Given the description of an element on the screen output the (x, y) to click on. 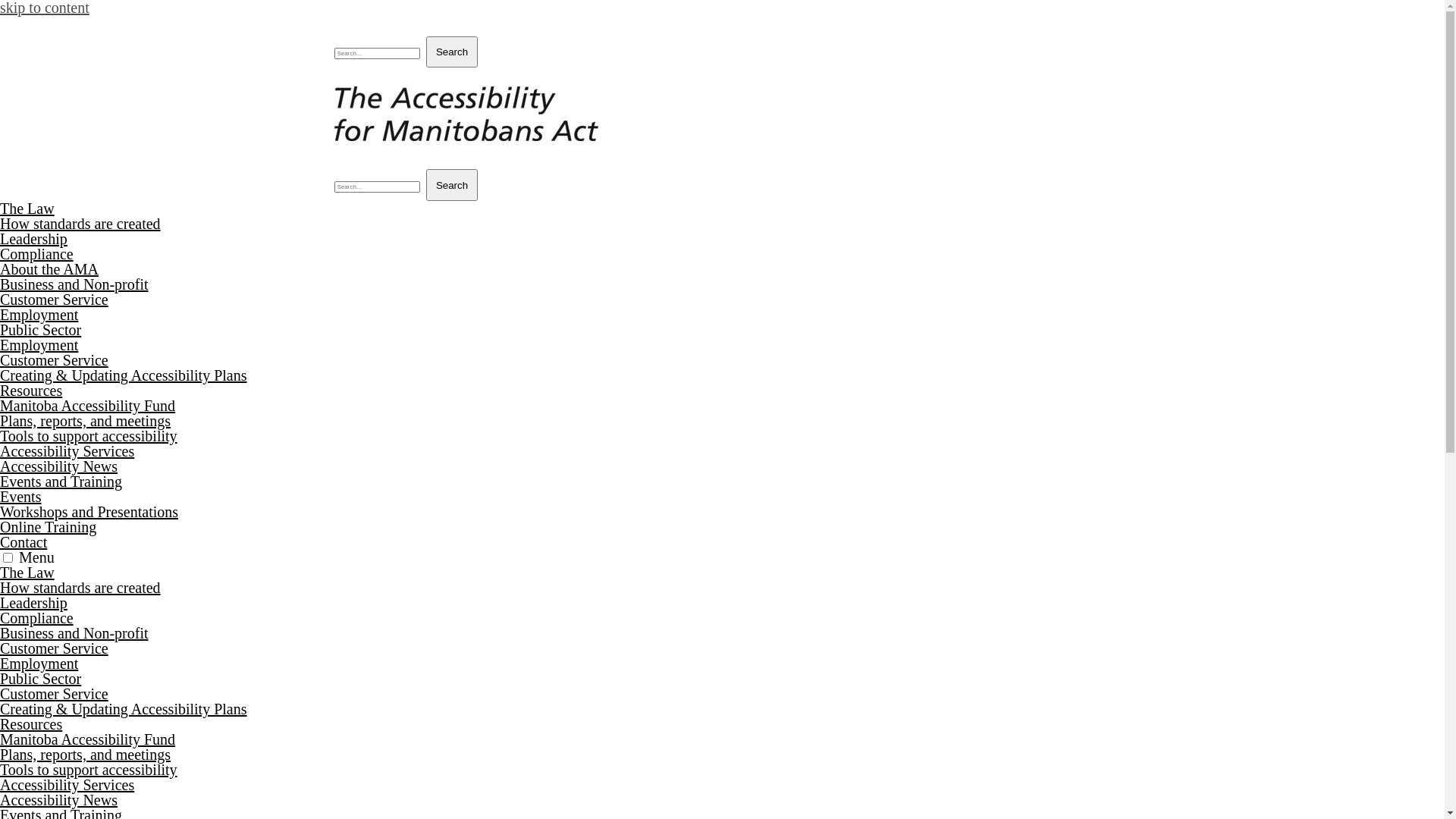
Creating & Updating Accessibility Plans Element type: text (123, 708)
Creating & Updating Accessibility Plans Element type: text (123, 375)
Compliance Element type: text (36, 617)
Employment Element type: text (39, 314)
Accessibility Services Element type: text (67, 784)
Public Sector Element type: text (40, 678)
Online Training Element type: text (48, 526)
How standards are created Element type: text (80, 223)
The Law Element type: text (27, 208)
Leadership Element type: text (33, 602)
Tools to support accessibility Element type: text (88, 769)
Leadership Element type: text (33, 238)
Manitoba Accessibility Fund Element type: text (87, 739)
Plans, reports, and meetings Element type: text (85, 420)
Customer Service Element type: text (54, 648)
Compliance Element type: text (36, 253)
The Law Element type: text (27, 572)
Accessibility Services Element type: text (67, 450)
Tools to support accessibility Element type: text (88, 435)
Plans, reports, and meetings Element type: text (85, 754)
Business and Non-profit Element type: text (74, 284)
Events Element type: text (20, 496)
Contact Element type: text (23, 541)
Resources Element type: text (31, 390)
Public Sector Element type: text (40, 329)
Customer Service Element type: text (54, 299)
Employment Element type: text (39, 663)
How standards are created Element type: text (80, 587)
Customer Service Element type: text (54, 359)
Customer Service Element type: text (54, 693)
Events and Training Element type: text (61, 481)
Accessibility News Element type: text (58, 466)
Resources Element type: text (31, 723)
Search Element type: text (452, 51)
About the AMA Element type: text (49, 268)
Business and Non-profit Element type: text (74, 632)
Search Element type: text (452, 184)
Workshops and Presentations Element type: text (89, 511)
Employment Element type: text (39, 344)
Manitoba Accessibility Fund Element type: text (87, 405)
Accessibility News Element type: text (58, 799)
